Given the description of an element on the screen output the (x, y) to click on. 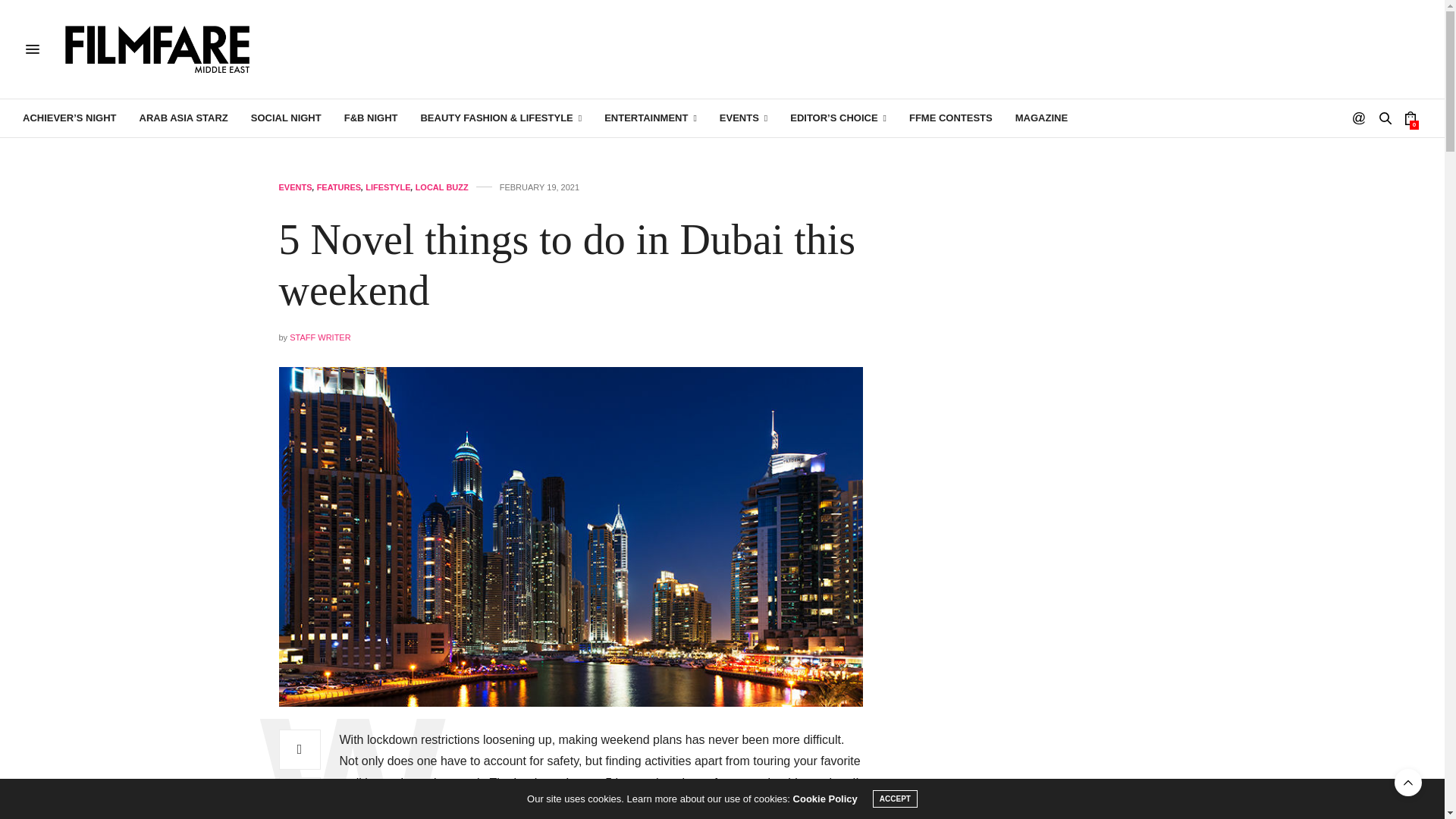
FilmFare (158, 49)
EVENTS (743, 118)
ENTERTAINMENT (650, 118)
ARAB ASIA STARZ (183, 118)
Posts by Staff Writer (319, 337)
SOCIAL NIGHT (285, 118)
